Given the description of an element on the screen output the (x, y) to click on. 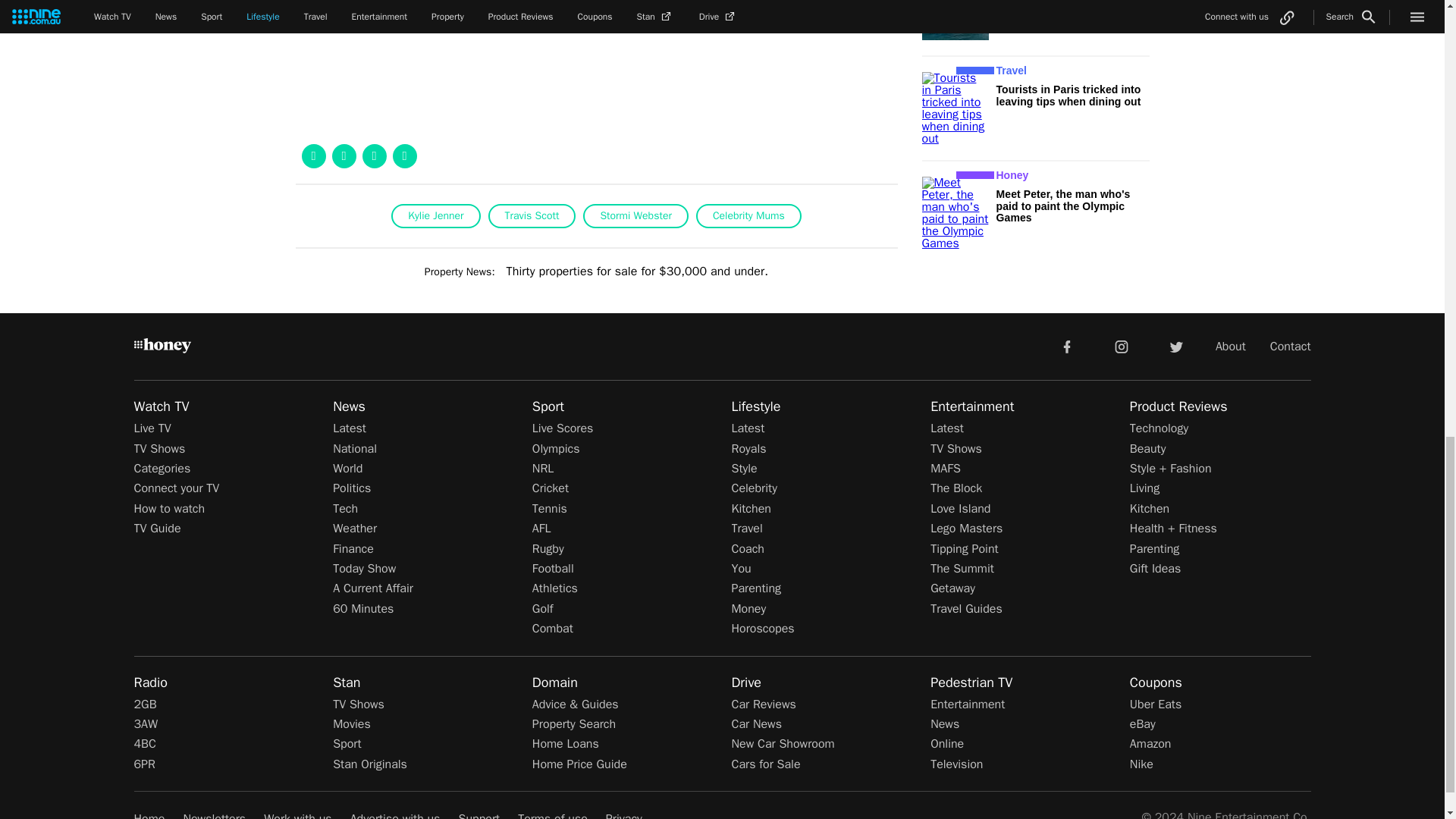
twitter (1175, 345)
facebook (1066, 345)
Kylie Jenner (435, 215)
instagram (1121, 345)
